Given the description of an element on the screen output the (x, y) to click on. 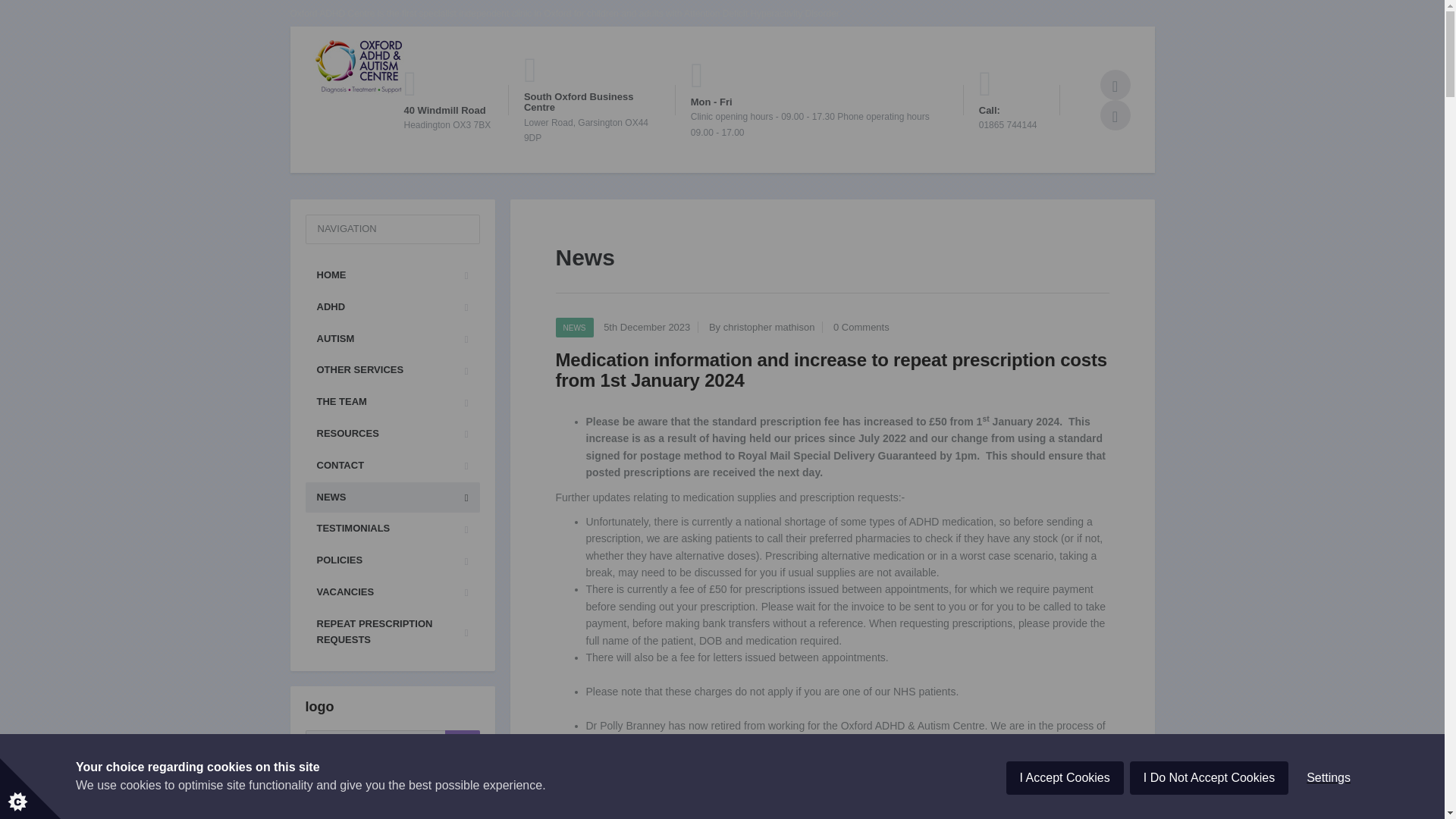
Settings (1328, 816)
0 Comments (860, 326)
NEWS (573, 327)
